Given the description of an element on the screen output the (x, y) to click on. 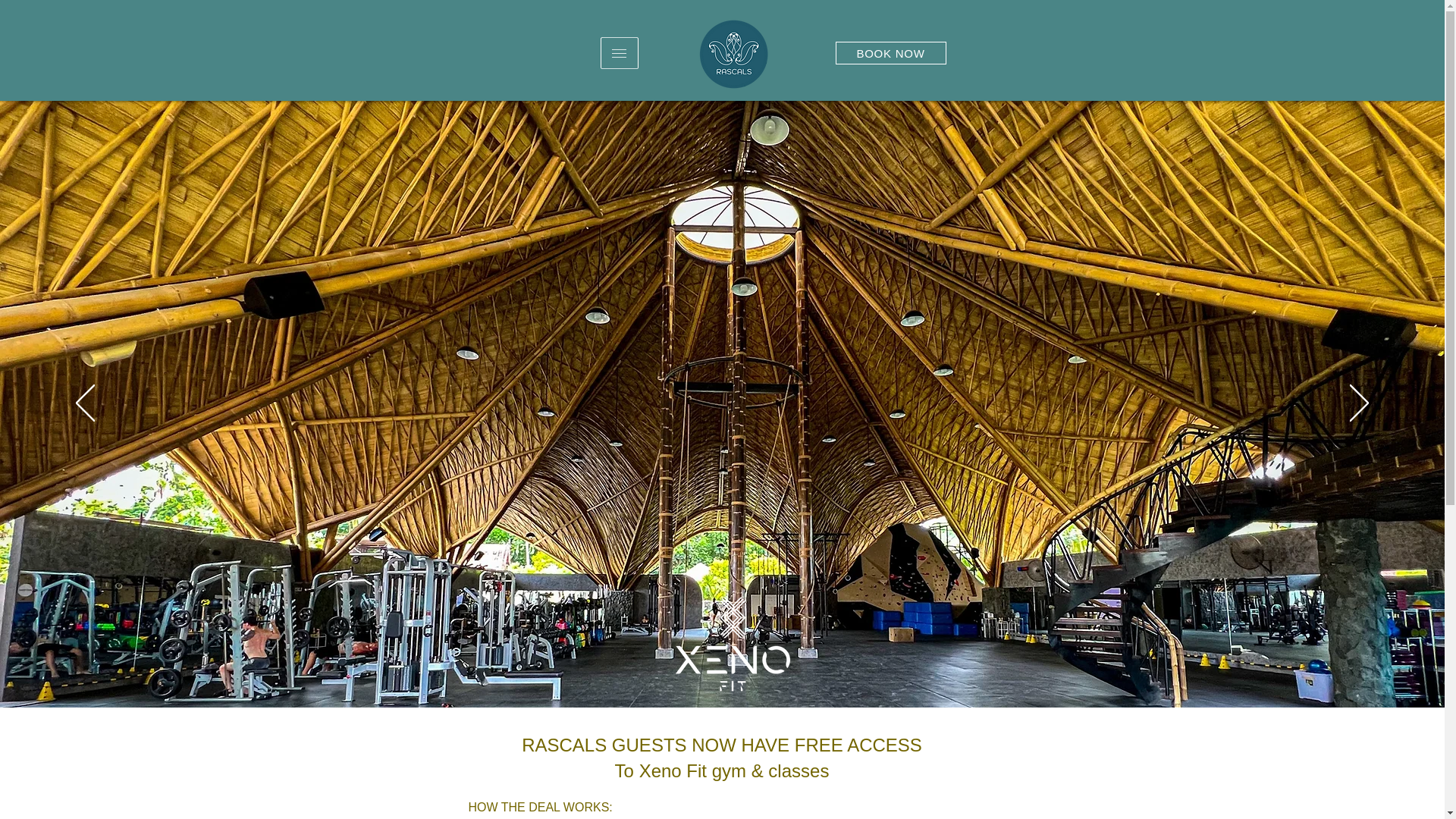
BOOK NOW (890, 52)
